Given the description of an element on the screen output the (x, y) to click on. 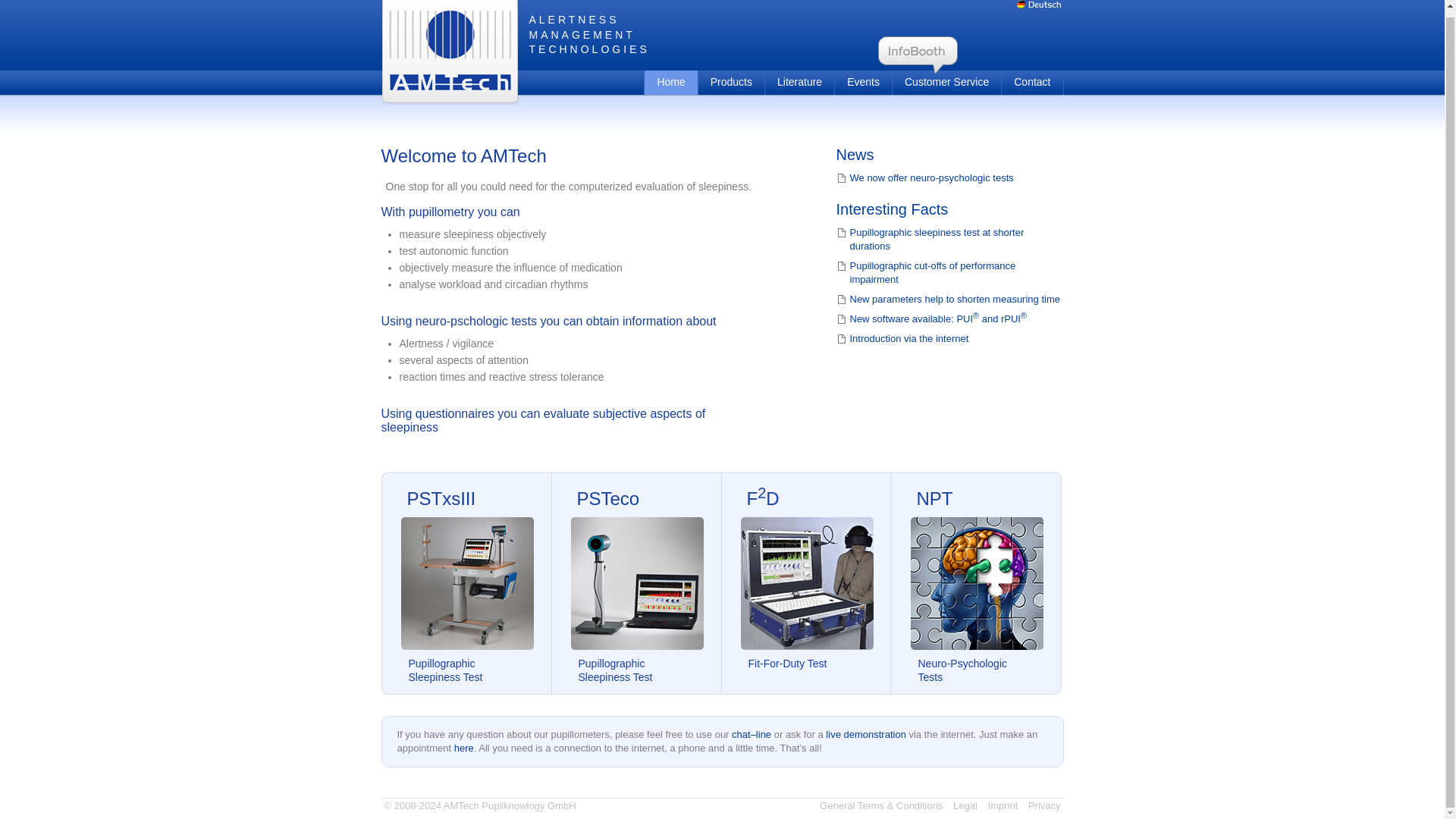
Literature (799, 82)
Privacy (1044, 805)
New parameters help to shorten measuring time (948, 299)
Home (670, 82)
Introduction via the internet (948, 338)
Products (730, 82)
InfoBooth (917, 55)
Contact (1031, 82)
here (464, 747)
Imprint (1002, 805)
